Given the description of an element on the screen output the (x, y) to click on. 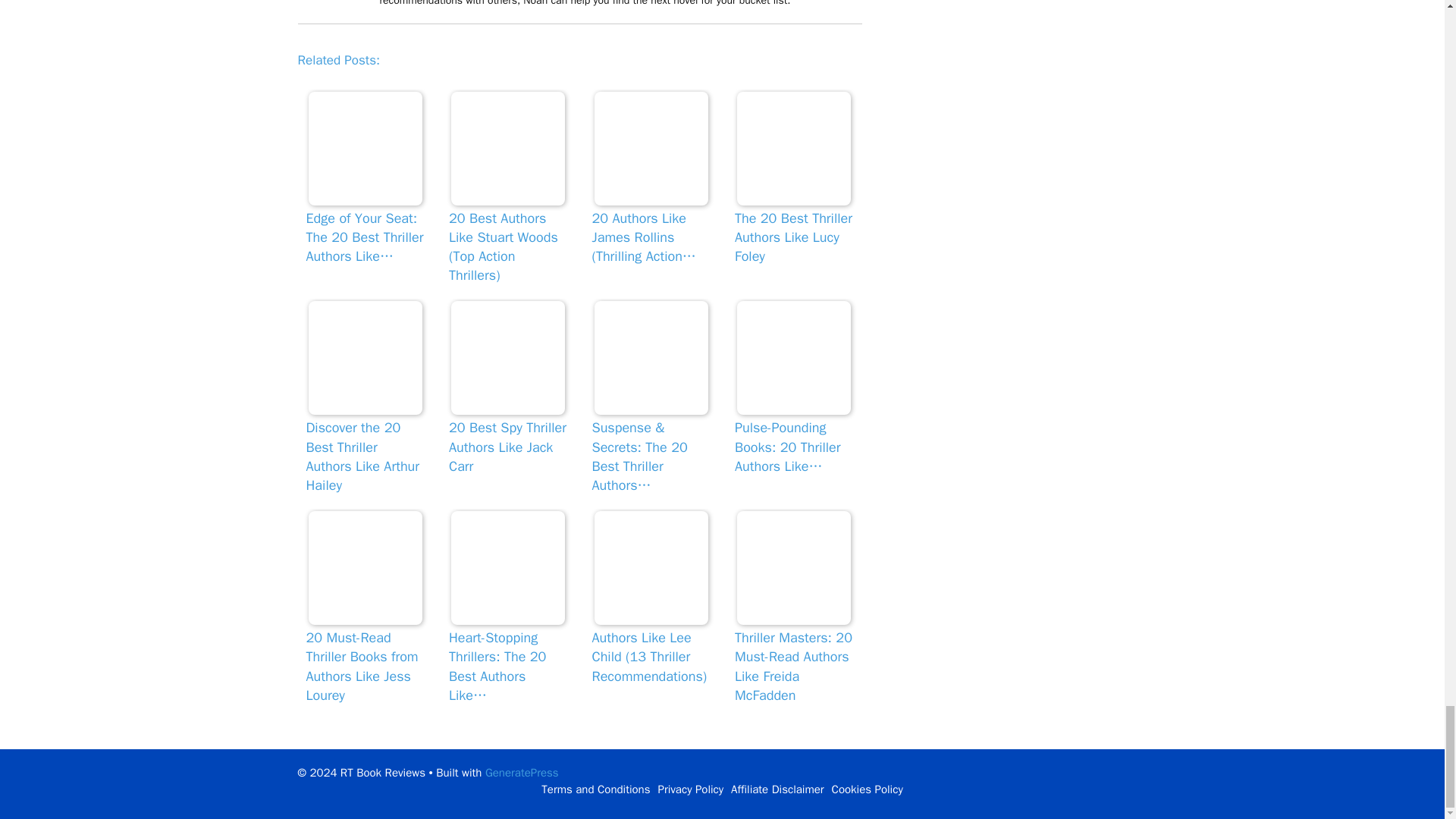
20 Best Spy Thriller Authors Like Jack Carr (507, 357)
Discover the 20 Best Thriller Authors Like Arthur Hailey (365, 357)
The 20 Best Thriller Authors Like Lucy Foley (793, 148)
